Given the description of an element on the screen output the (x, y) to click on. 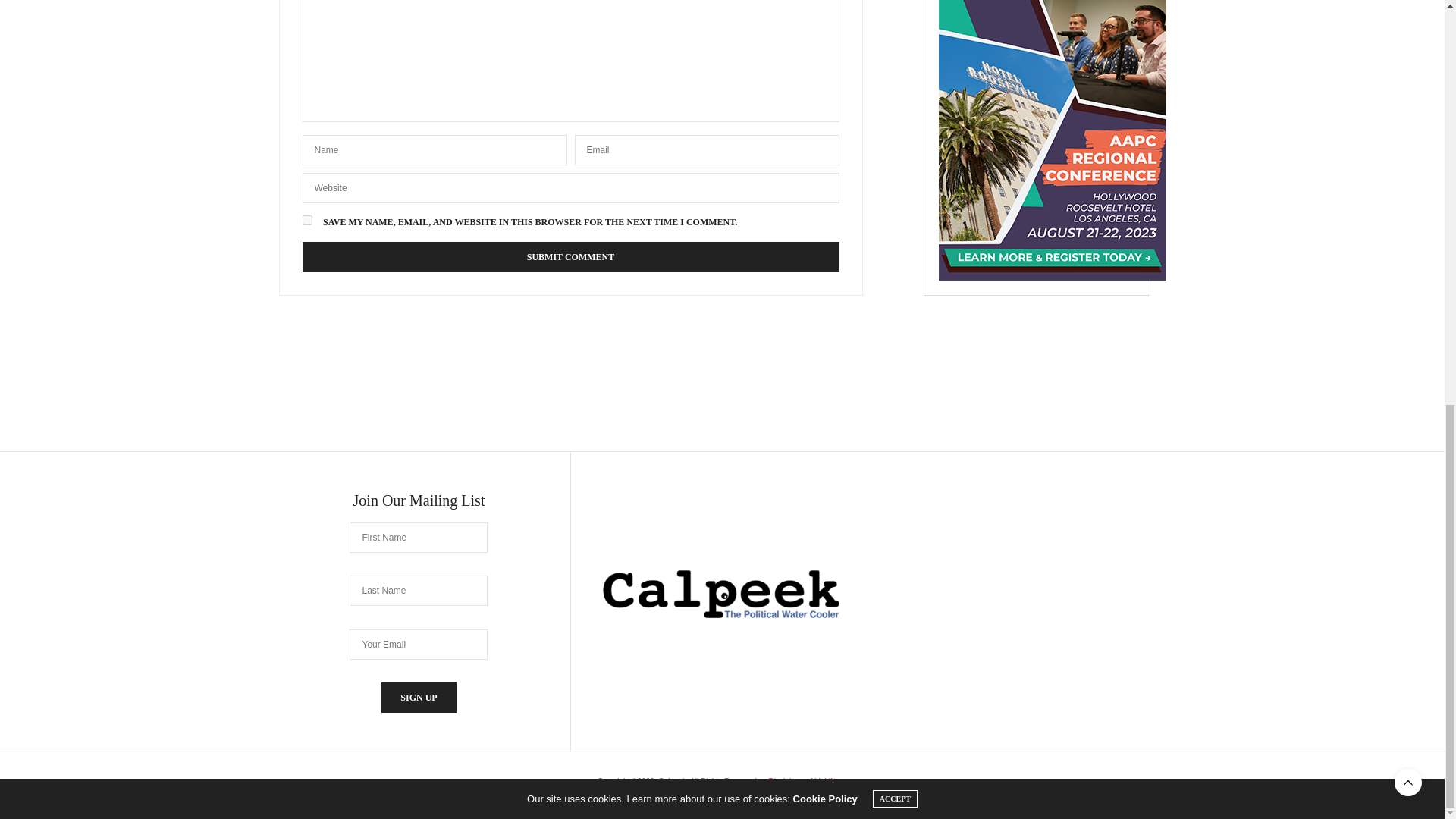
Sign up (418, 697)
yes (306, 220)
Submit Comment (569, 256)
